Given the description of an element on the screen output the (x, y) to click on. 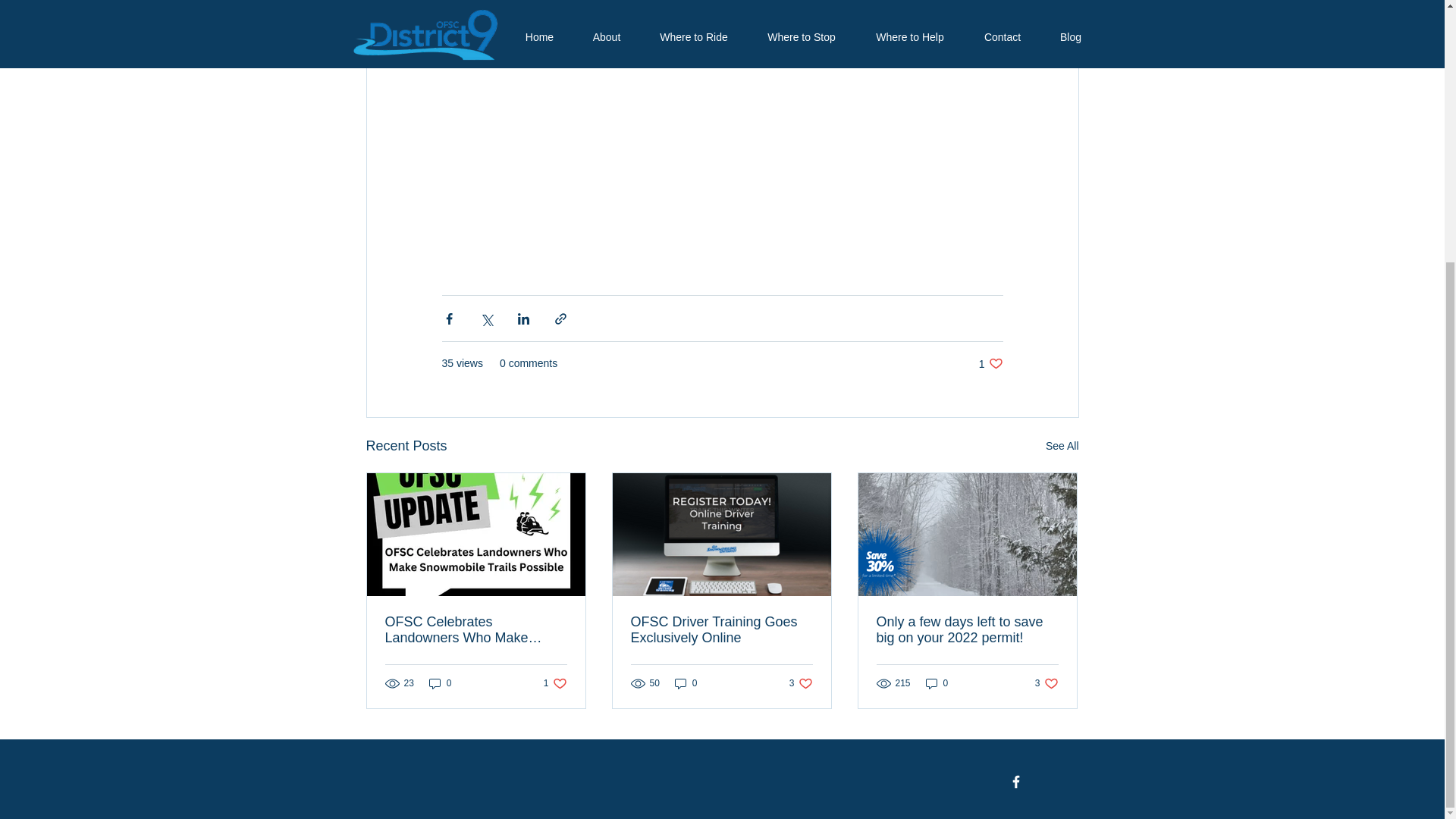
Only a few days left to save big on your 2022 permit! (555, 683)
0 (990, 363)
OFSC Driver Training Goes Exclusively Online (800, 683)
0 (967, 630)
0 (685, 683)
